Given the description of an element on the screen output the (x, y) to click on. 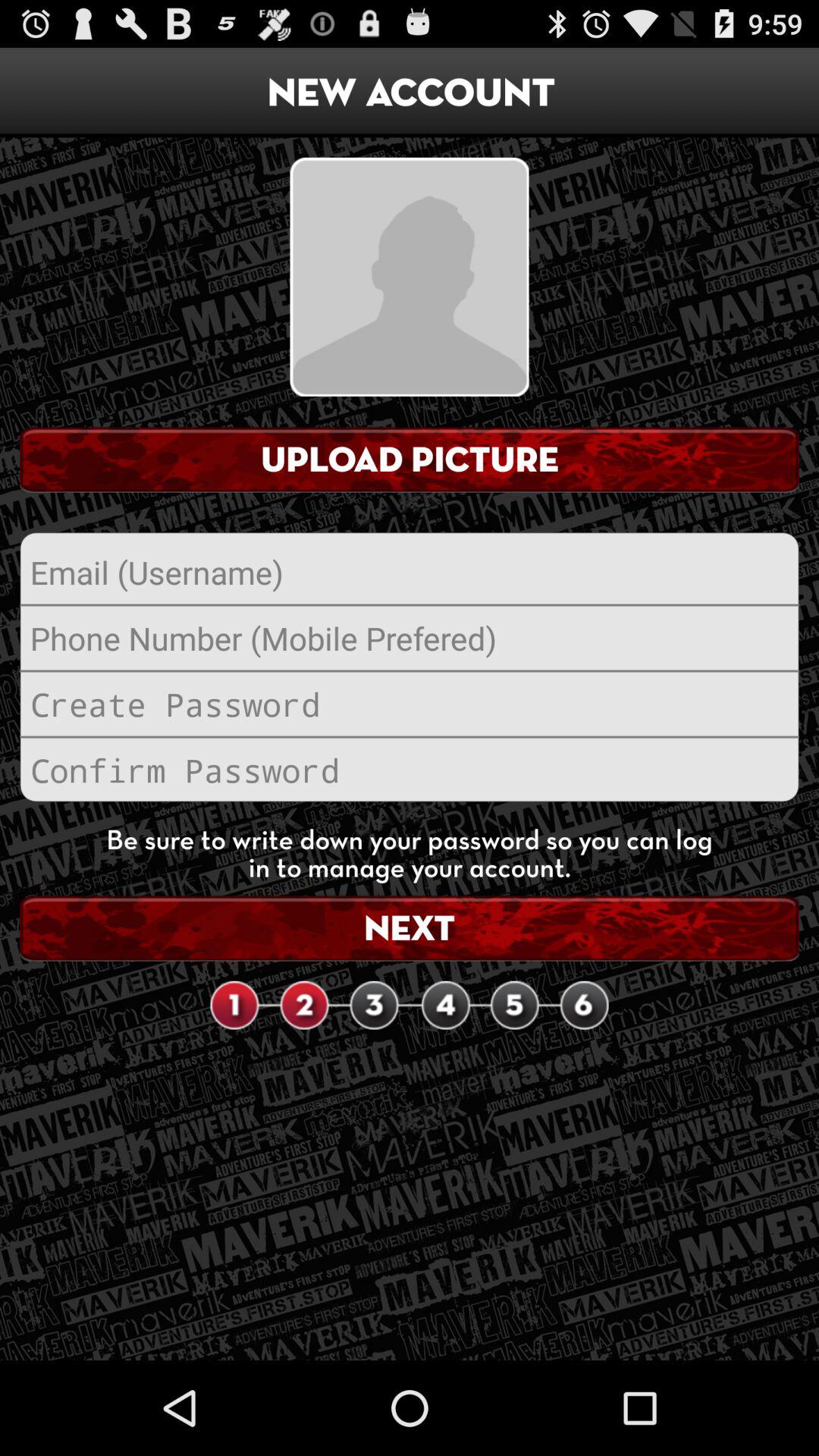
open item below the be sure to item (409, 928)
